Given the description of an element on the screen output the (x, y) to click on. 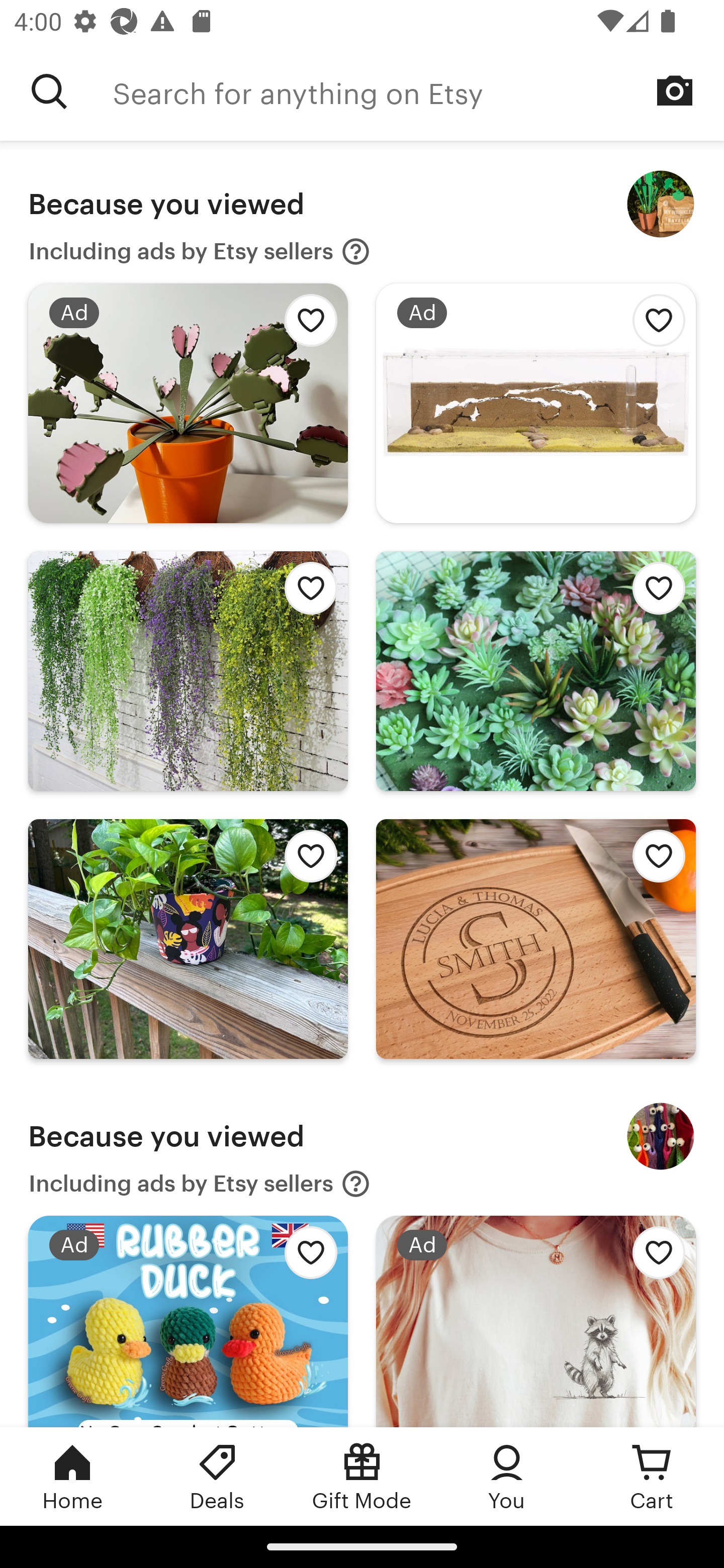
Search for anything on Etsy (49, 91)
Search by image (674, 90)
Search for anything on Etsy (418, 91)
Including ads by Etsy sellers (199, 251)
Black Girl Magic Add Black Girl Magic to favorites (188, 938)
Add Black Girl Magic to favorites (305, 860)
Yip Yip   MORE COMING on WEDNESDAY (660, 1136)
Including ads by Etsy sellers (199, 1183)
Deals (216, 1475)
Gift Mode (361, 1475)
You (506, 1475)
Cart (651, 1475)
